Given the description of an element on the screen output the (x, y) to click on. 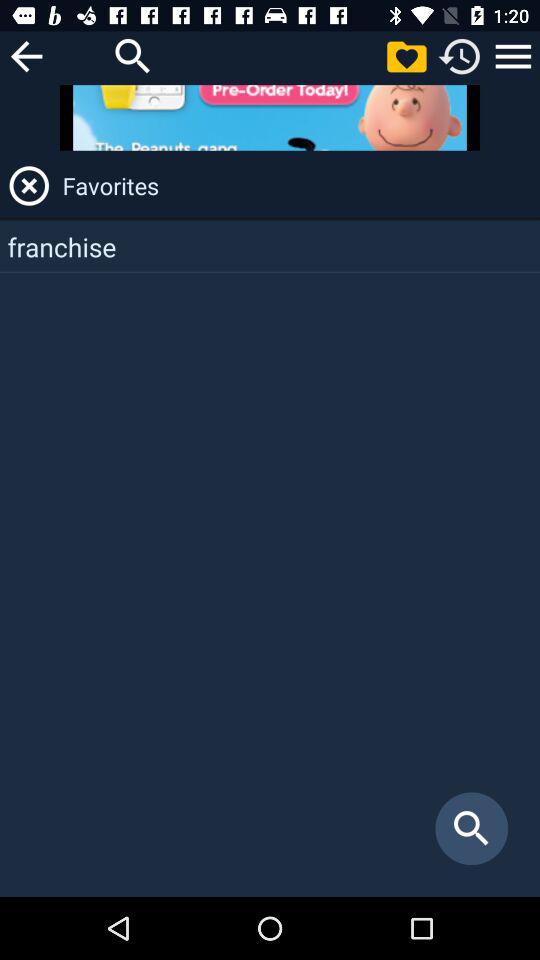
here we get all the menus of the home page (513, 56)
